Given the description of an element on the screen output the (x, y) to click on. 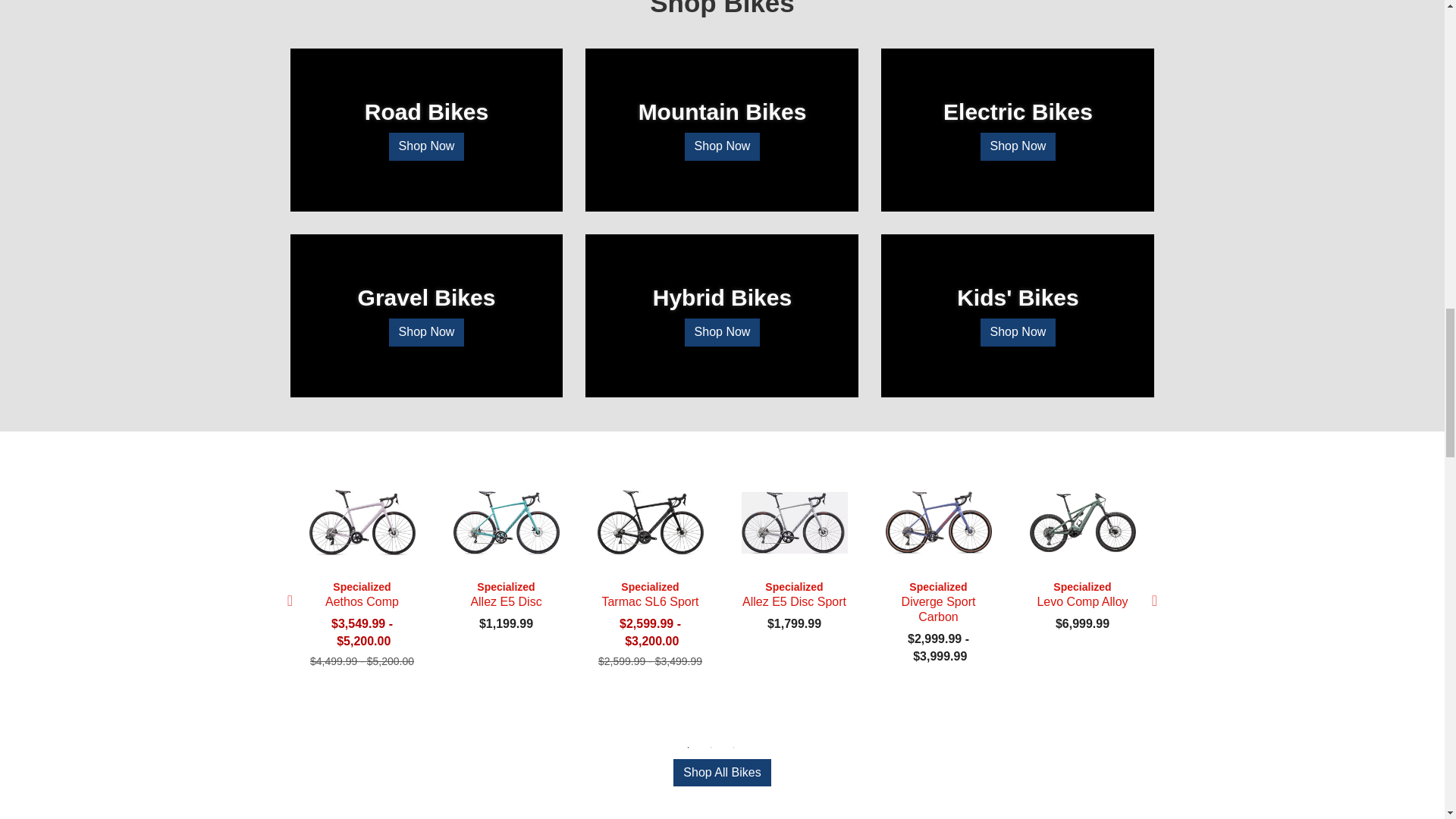
Specialized Allez E5 Disc (505, 522)
Specialized Aethos Comp (361, 522)
Specialized Tarmac SL6 Sport (649, 522)
Specialized Allez E5 Disc Sport (793, 522)
Specialized Diverge Sport Carbon (937, 522)
